Given the description of an element on the screen output the (x, y) to click on. 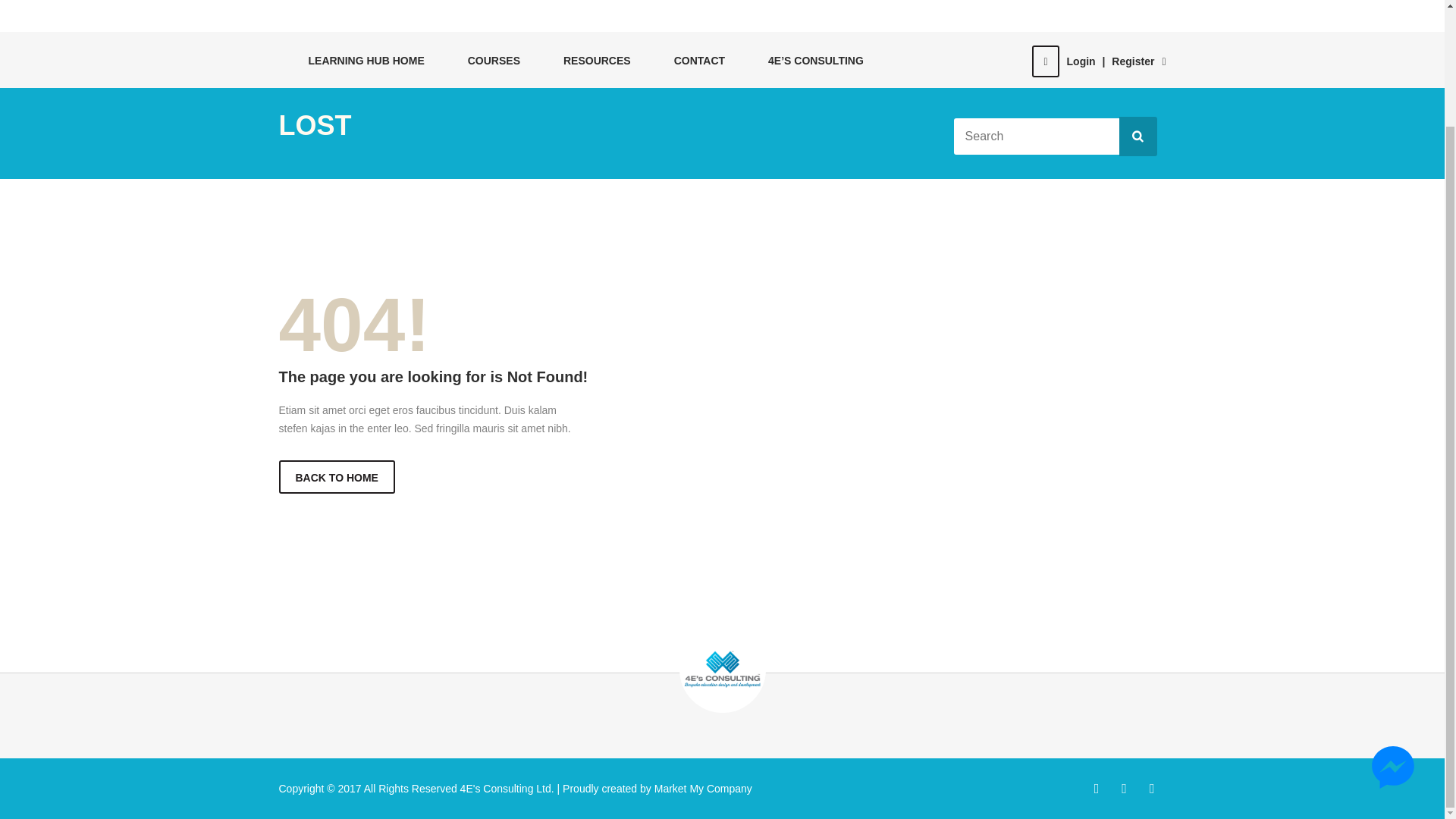
Footer Logo (722, 669)
CONTACT (691, 59)
BACK TO HOME (336, 476)
LEARNING HUB HOME (358, 59)
RESOURCES (589, 59)
 Market My Company (701, 787)
COURSES (486, 59)
